Given the description of an element on the screen output the (x, y) to click on. 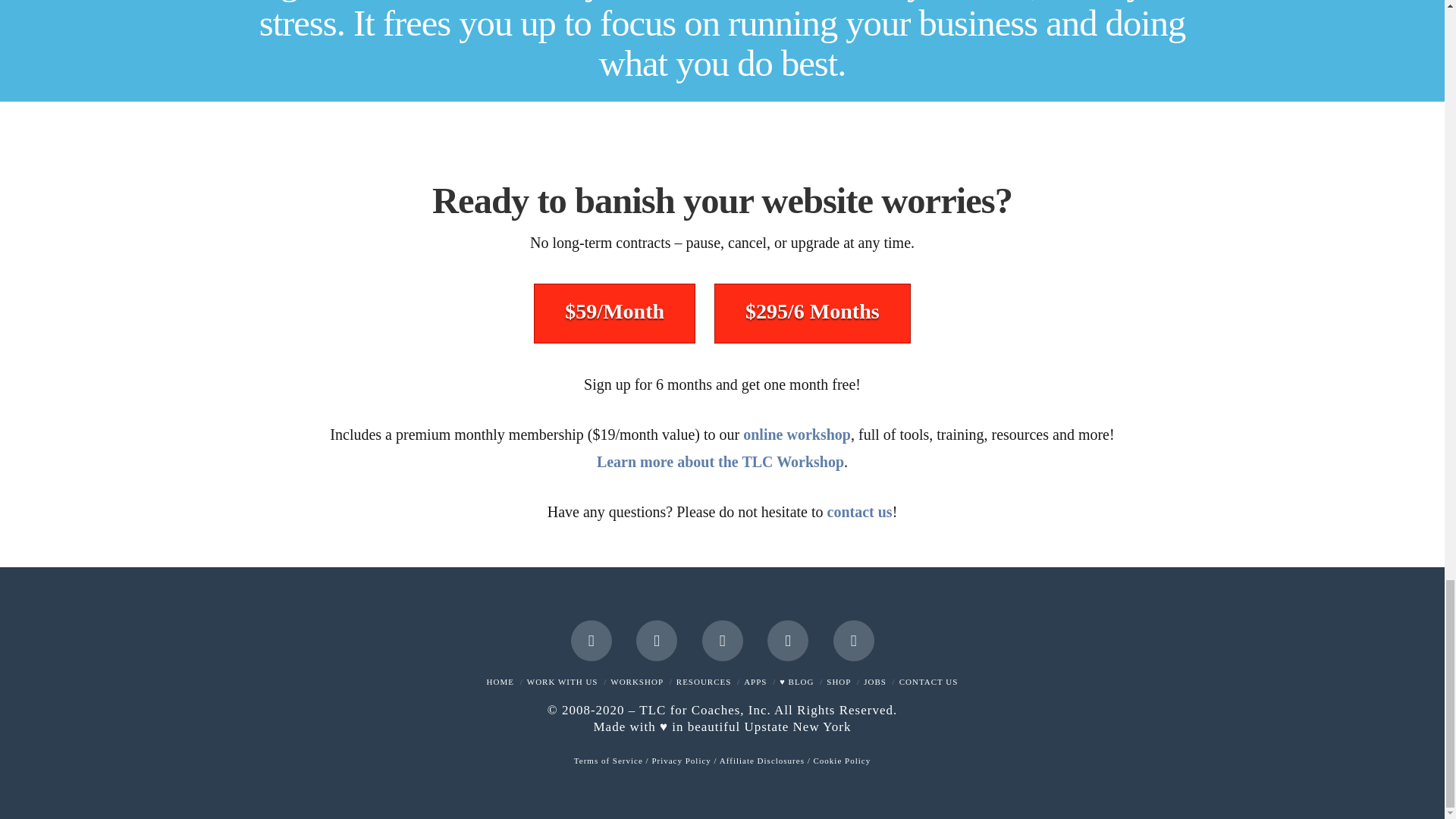
Learn more about the TLC Workshop (720, 461)
LinkedIn (721, 639)
Instagram (787, 639)
contact us (859, 511)
Facebook (590, 639)
Pinterest (852, 639)
online workshop (796, 434)
